Given the description of an element on the screen output the (x, y) to click on. 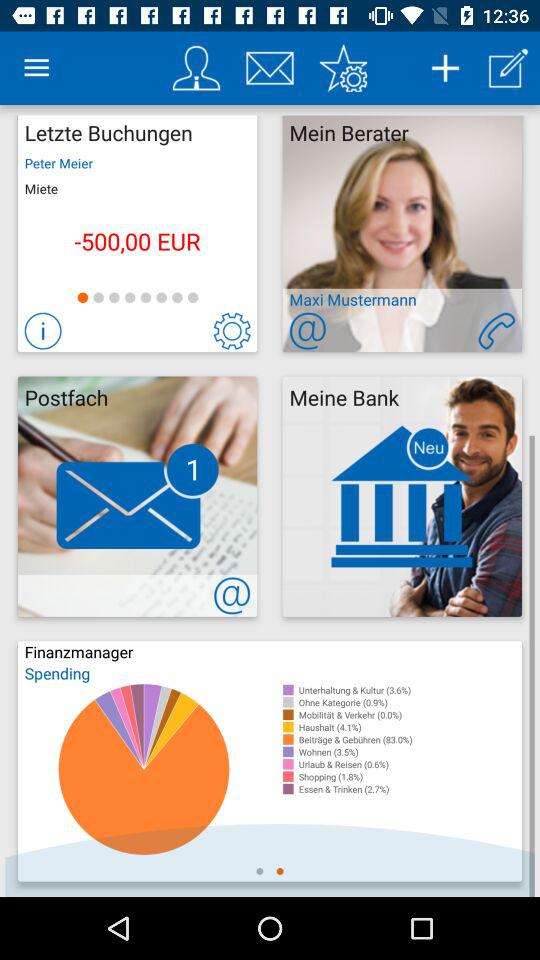
open inbox (269, 67)
